Given the description of an element on the screen output the (x, y) to click on. 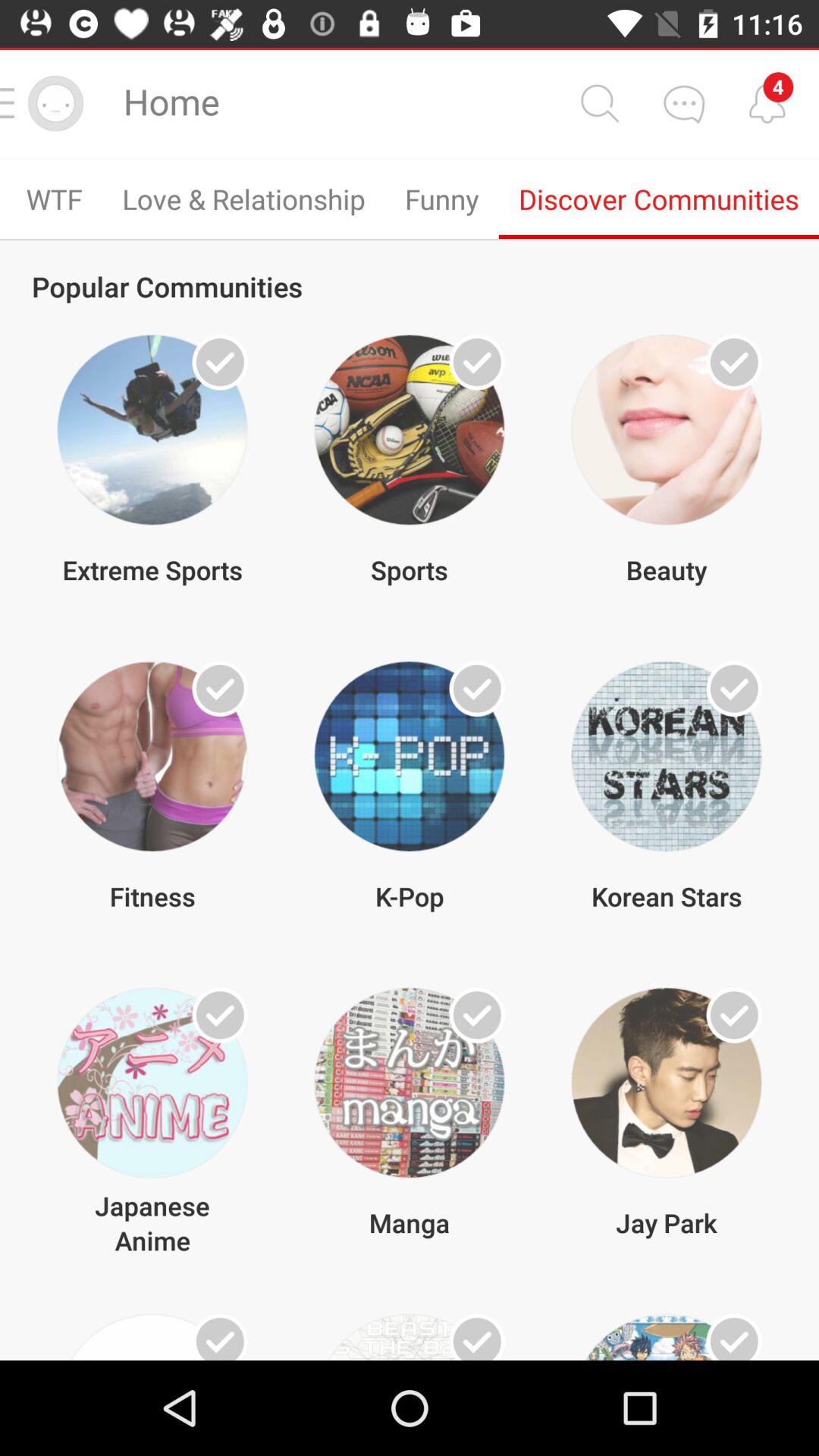
toggle selection (477, 1015)
